Given the description of an element on the screen output the (x, y) to click on. 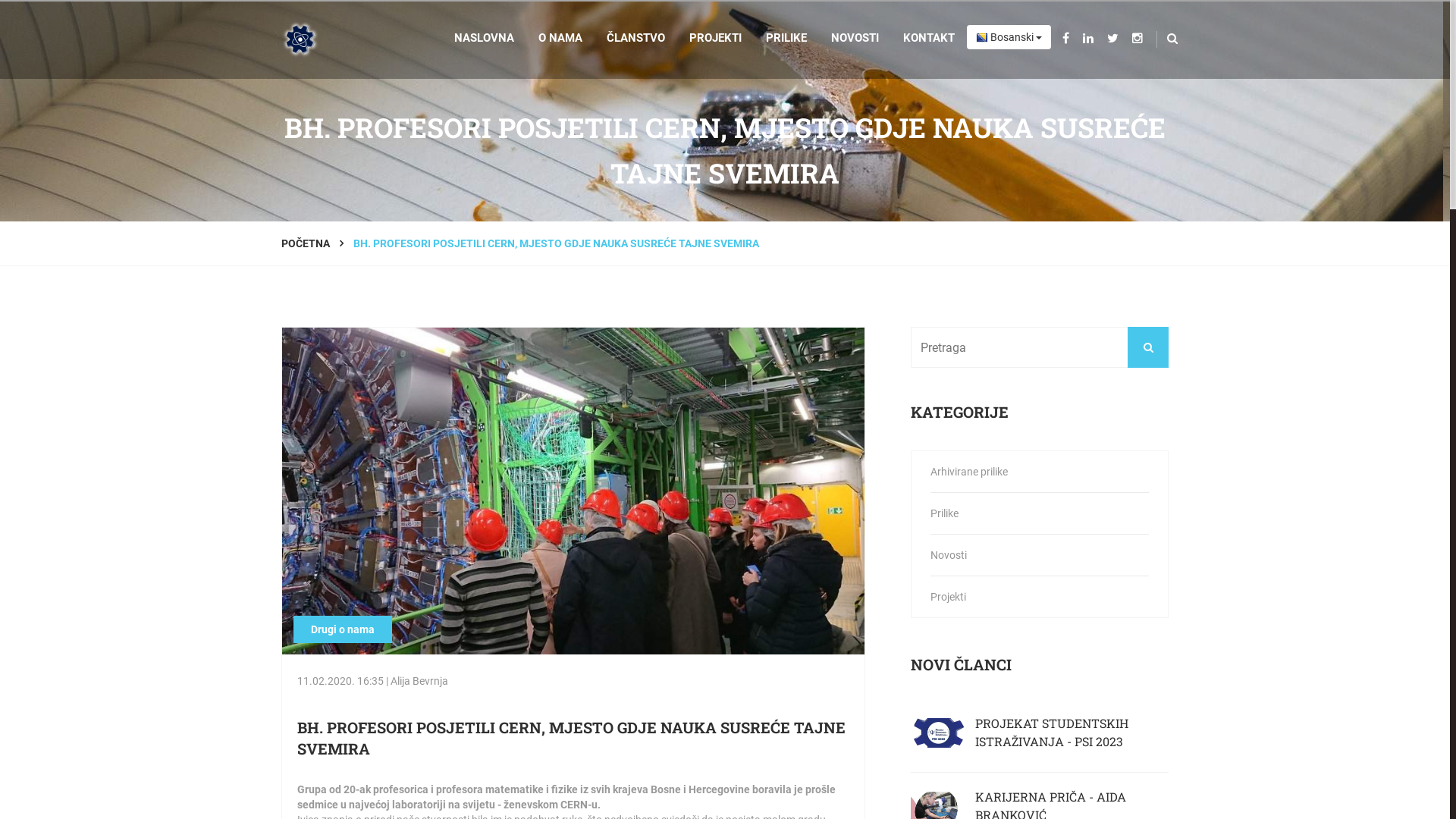
Novosti Element type: text (1039, 554)
KONTAKT Element type: text (928, 38)
O NAMA Element type: text (560, 38)
PRILIKE Element type: text (786, 38)
Prilike Element type: text (1039, 512)
PROJEKTI Element type: text (715, 38)
NASLOVNA Element type: text (490, 38)
Projekti Element type: text (1039, 596)
Arhivirane prilike Element type: text (1039, 471)
Bosanski Element type: text (1008, 37)
NOVOSTI Element type: text (855, 38)
